Given the description of an element on the screen output the (x, y) to click on. 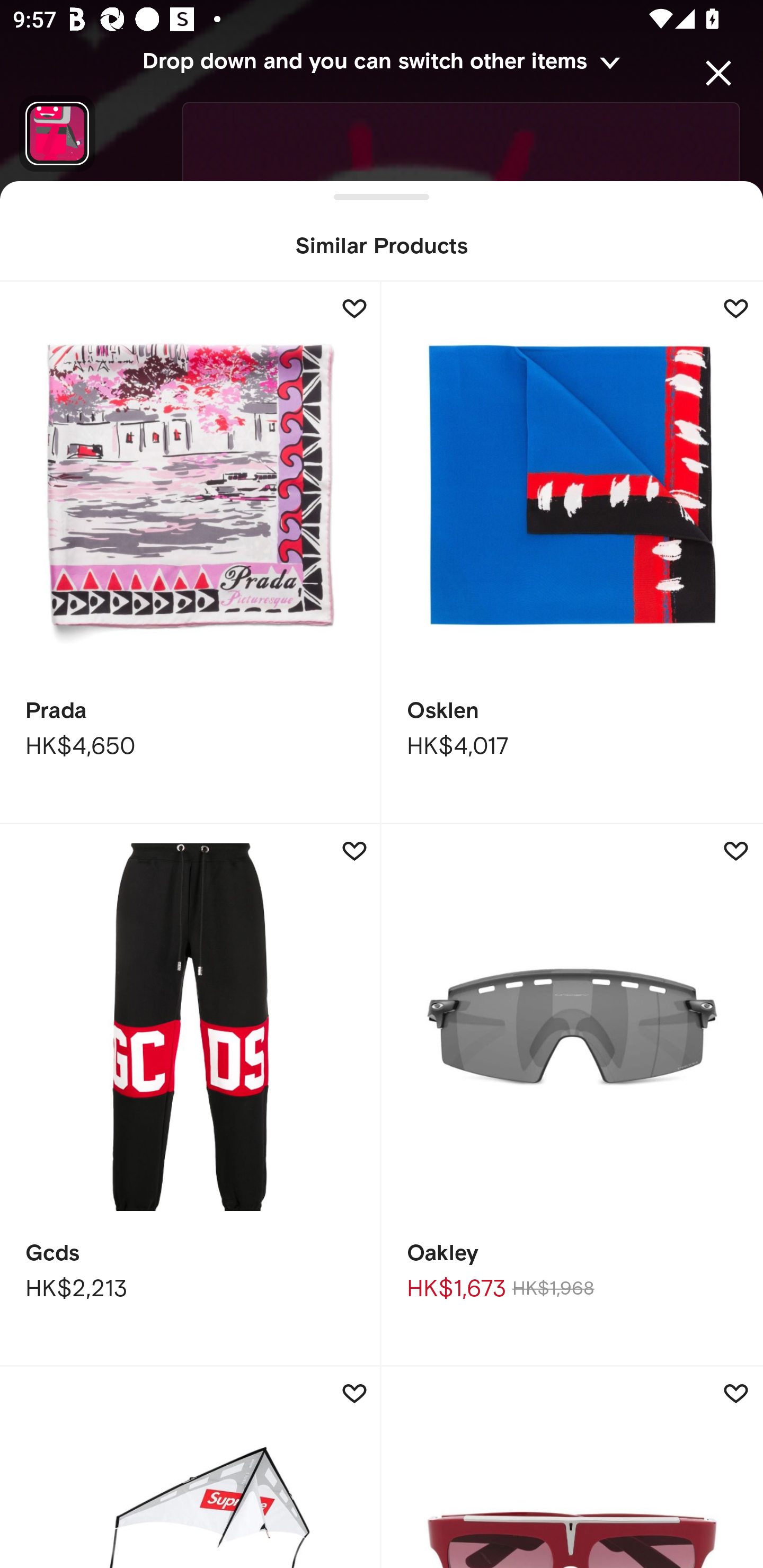
Prada HK$4,650 (190, 553)
Osklen HK$4,017 (572, 553)
Gcds HK$2,213 (190, 1095)
Oakley HK$1,673 HK$1,968 (572, 1095)
